Given the description of an element on the screen output the (x, y) to click on. 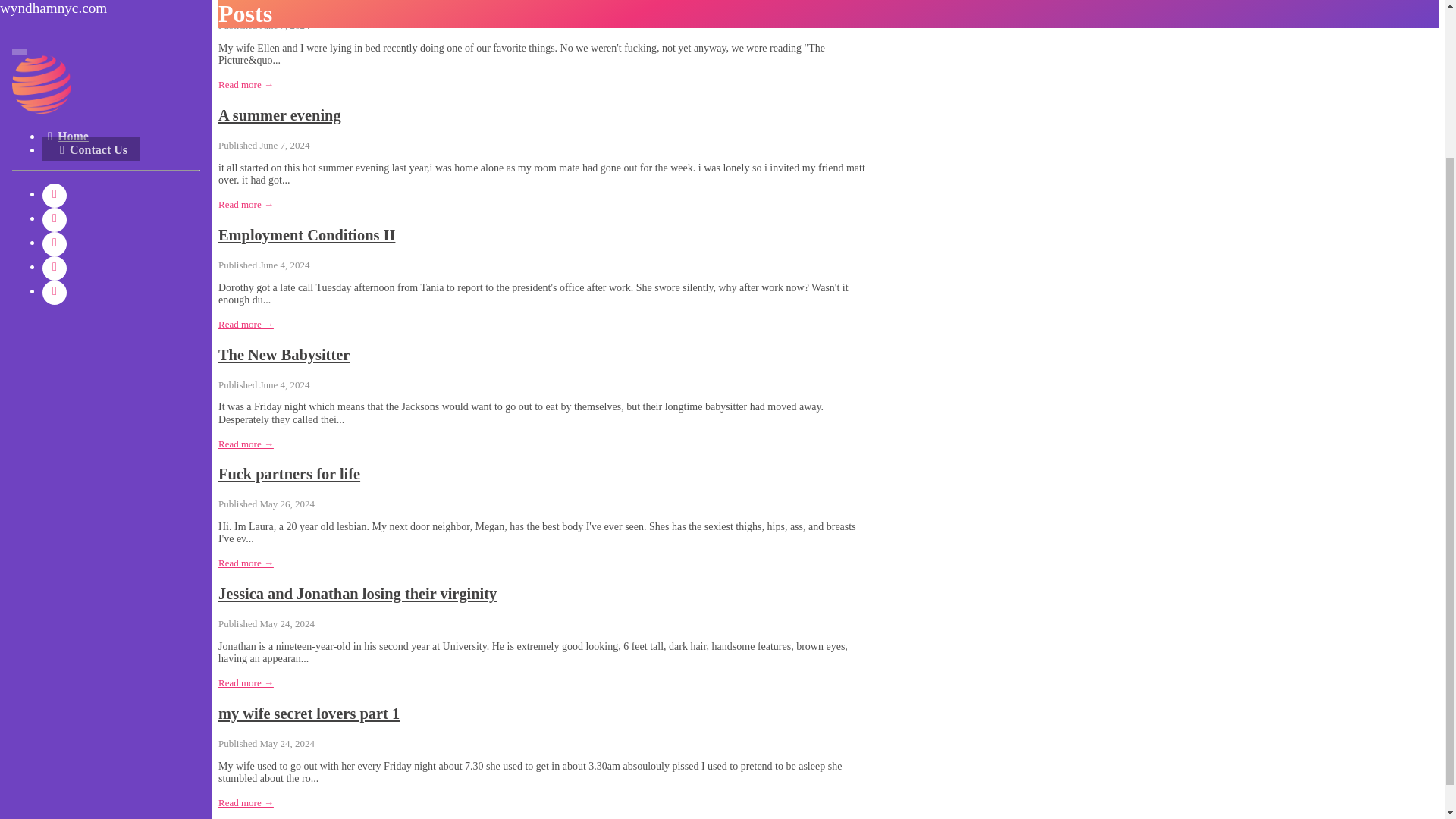
Fuck partners for life (288, 474)
A summer evening (279, 115)
Jessica and Jonathan losing their virginity (357, 593)
Employment Conditions II (306, 234)
Slut Wife The photo shoot (304, 2)
my wife secret lovers part 1 (308, 713)
The New Babysitter (283, 354)
